Given the description of an element on the screen output the (x, y) to click on. 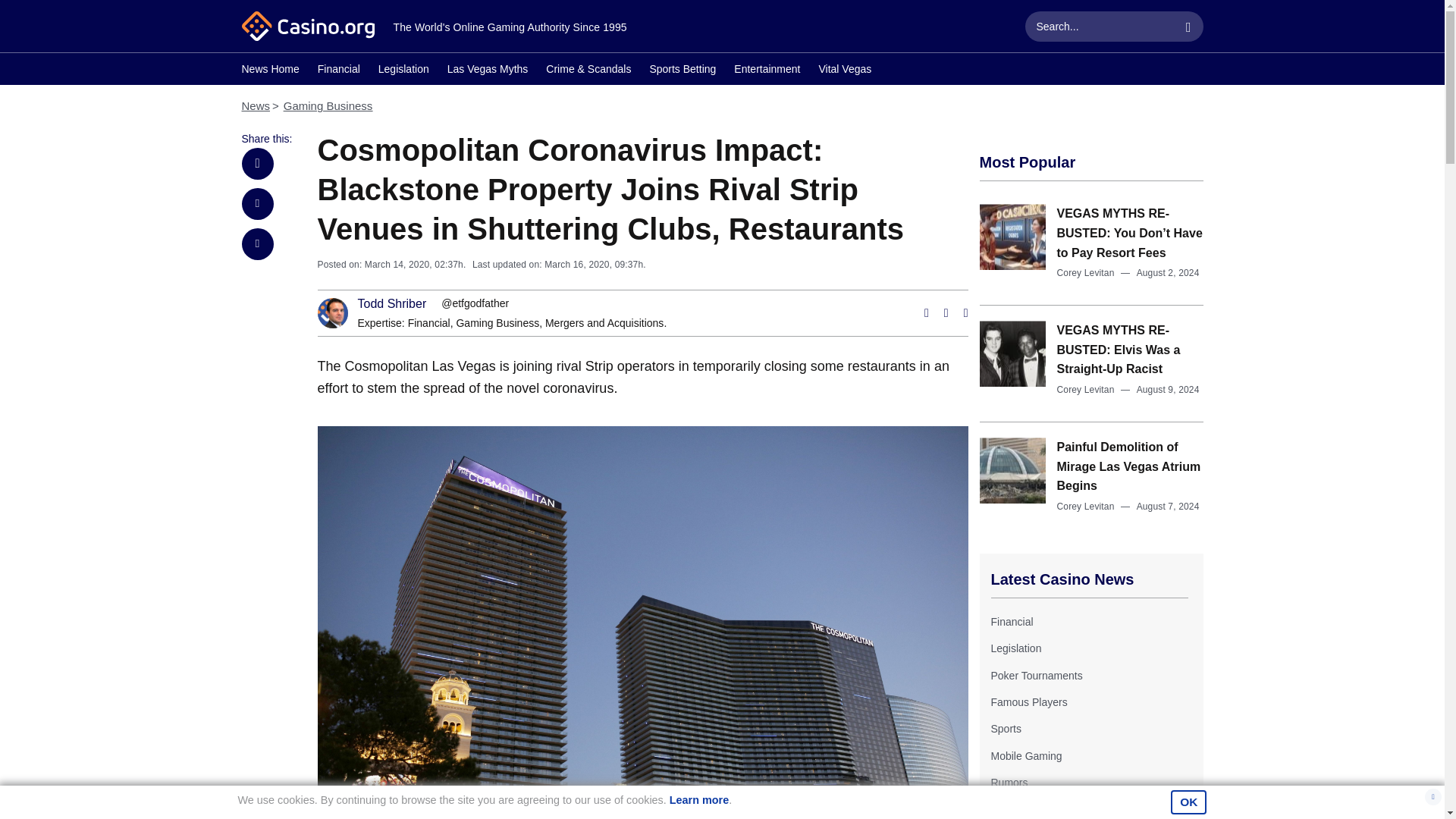
Financial (338, 70)
News Home (269, 70)
Gaming Business (496, 322)
Famous Players (1028, 702)
Las Vegas Myths (487, 70)
Financial (428, 322)
News (255, 105)
Painful Demolition of Mirage Las Vegas Atrium Begins (1129, 466)
Sports (1005, 728)
Corey Levitan (1086, 389)
